Given the description of an element on the screen output the (x, y) to click on. 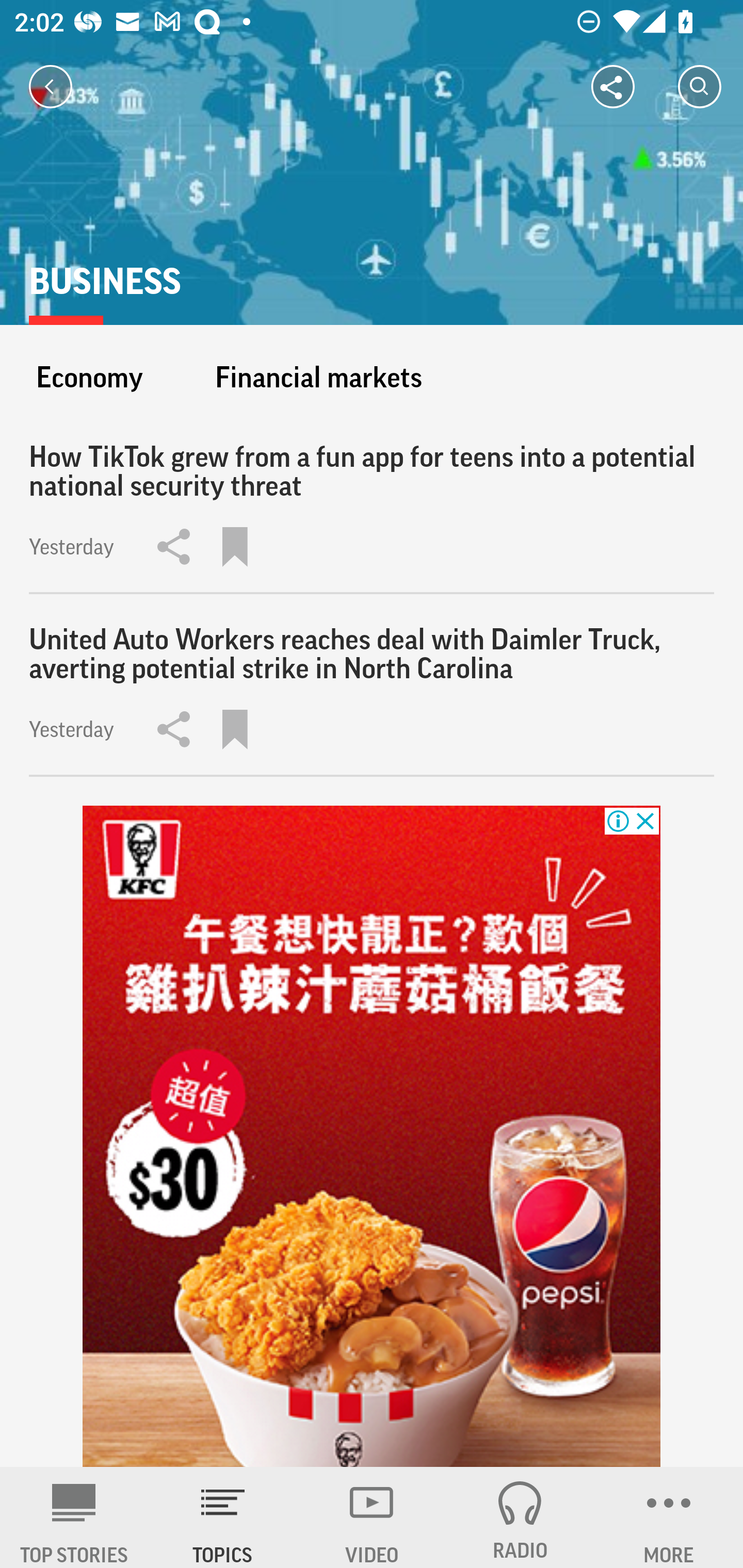
Economy (89, 376)
Financial markets (317, 376)
Advertisement (371, 1136)
AP News TOP STORIES (74, 1517)
TOPICS (222, 1517)
VIDEO (371, 1517)
RADIO (519, 1517)
MORE (668, 1517)
